Given the description of an element on the screen output the (x, y) to click on. 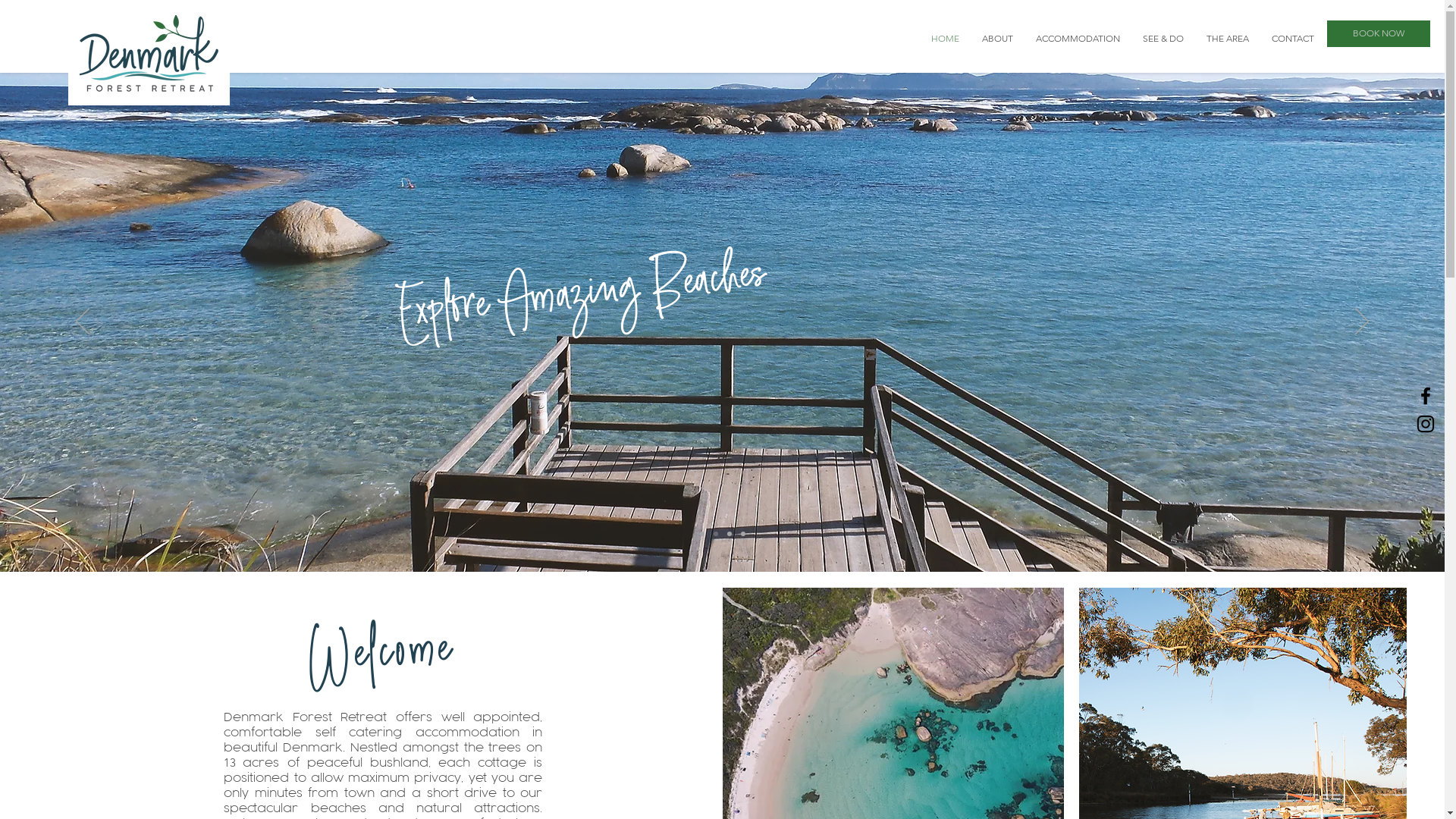
BOOK NOW Element type: text (1378, 33)
HOME Element type: text (944, 38)
CONTACT Element type: text (1292, 38)
ABOUT Element type: text (997, 38)
SEE & DO Element type: text (1163, 38)
ACCOMMODATION Element type: text (1077, 38)
THE AREA Element type: text (1227, 38)
